Given the description of an element on the screen output the (x, y) to click on. 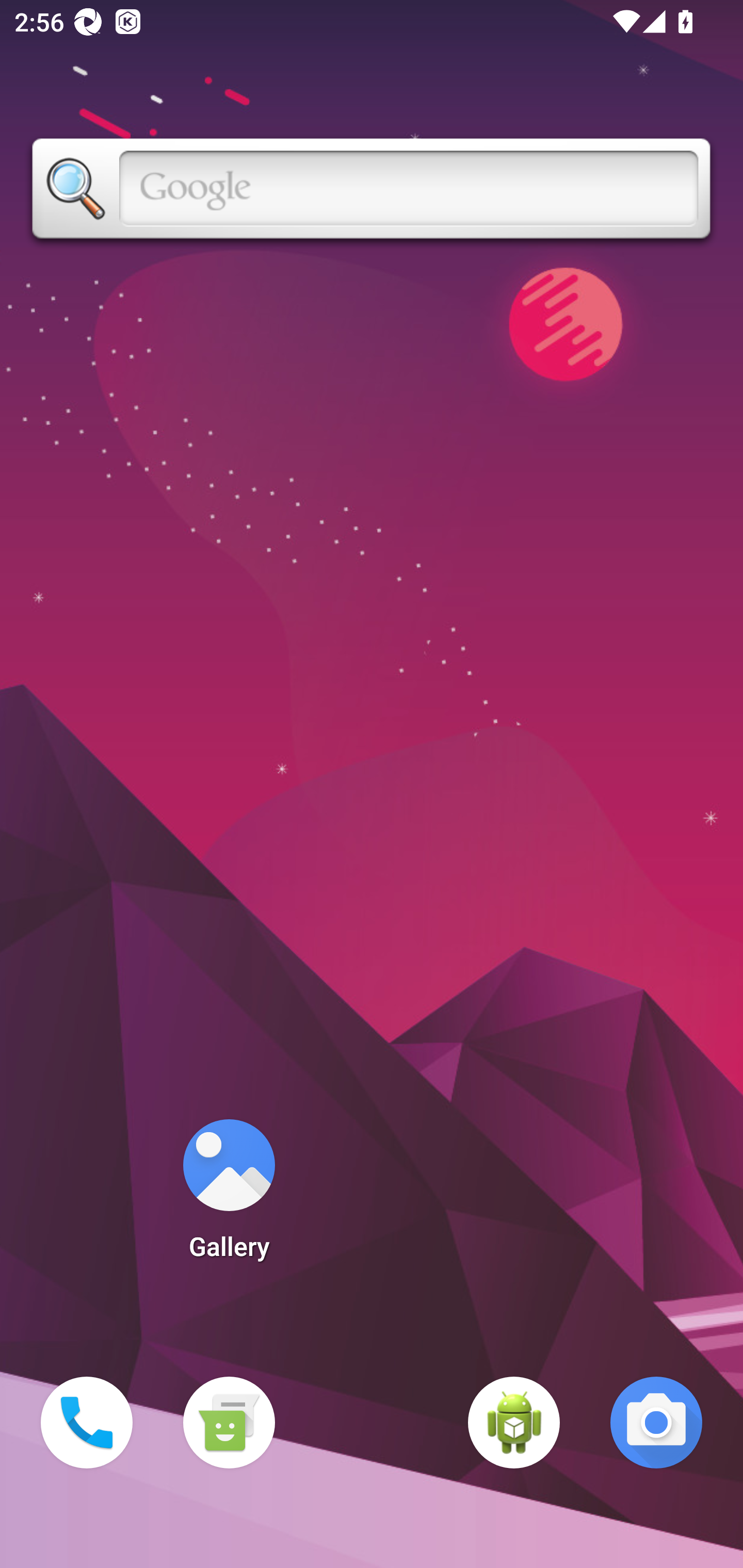
Gallery (228, 1195)
Phone (86, 1422)
Messaging (228, 1422)
WebView Browser Tester (513, 1422)
Camera (656, 1422)
